Given the description of an element on the screen output the (x, y) to click on. 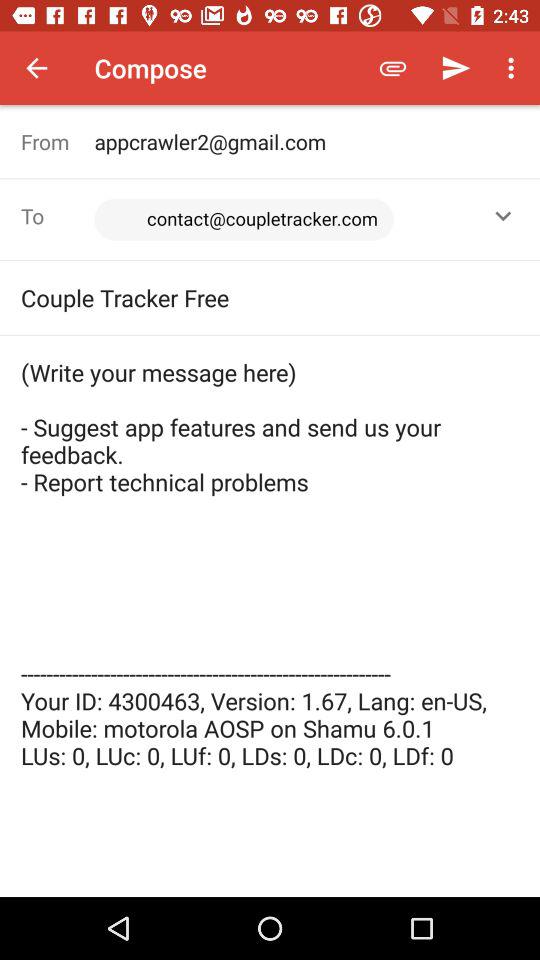
swipe until write your message item (270, 563)
